Given the description of an element on the screen output the (x, y) to click on. 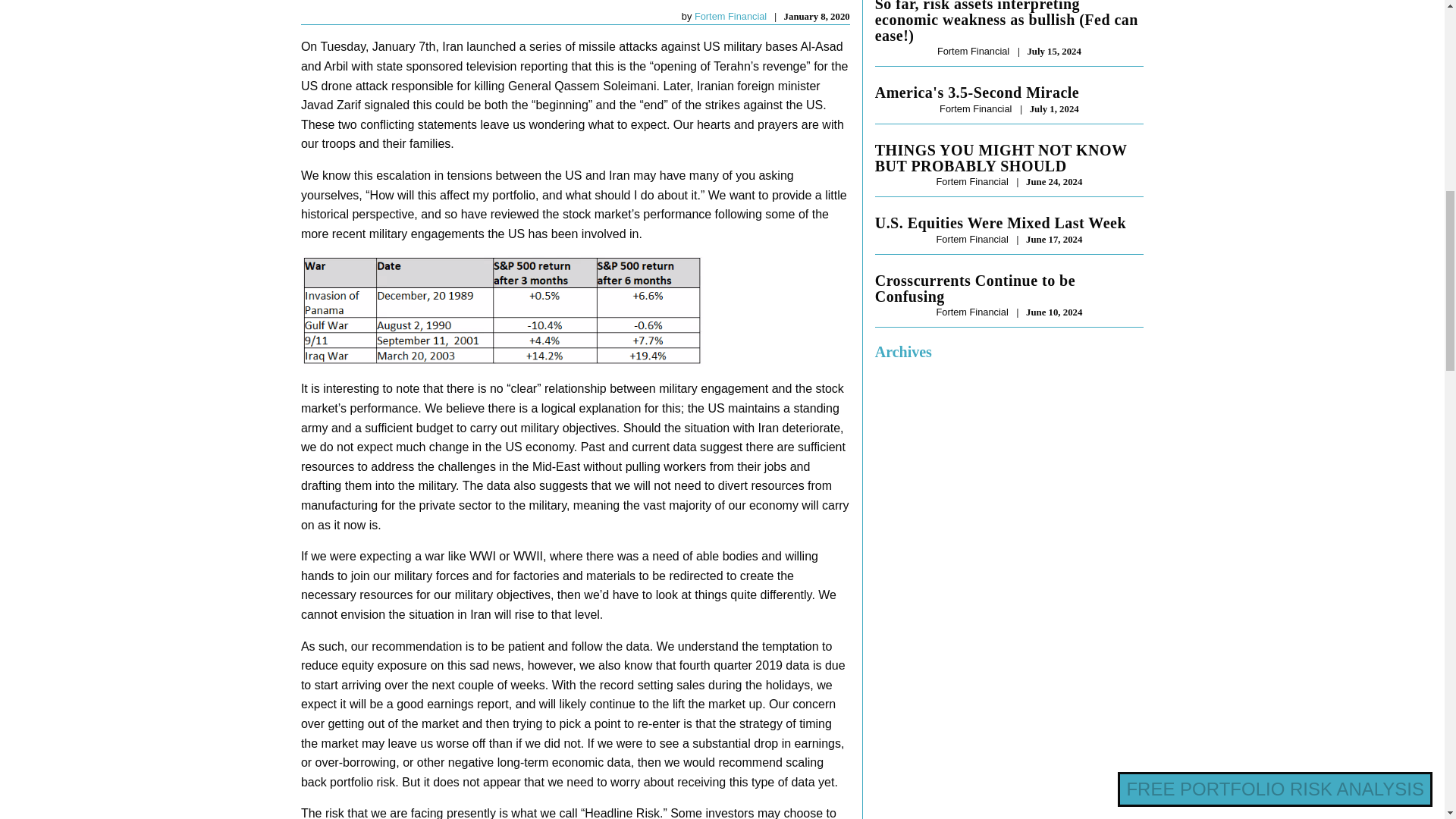
U.S. Equities Were Mixed Last Week (1008, 222)
America's 3.5-Second Miracle (1008, 92)
THINGS YOU MIGHT NOT KNOW BUT PROBABLY SHOULD (1008, 158)
Crosscurrents Continue to be Confusing (1008, 288)
Fortem Financial (730, 16)
Archives (903, 351)
